Given the description of an element on the screen output the (x, y) to click on. 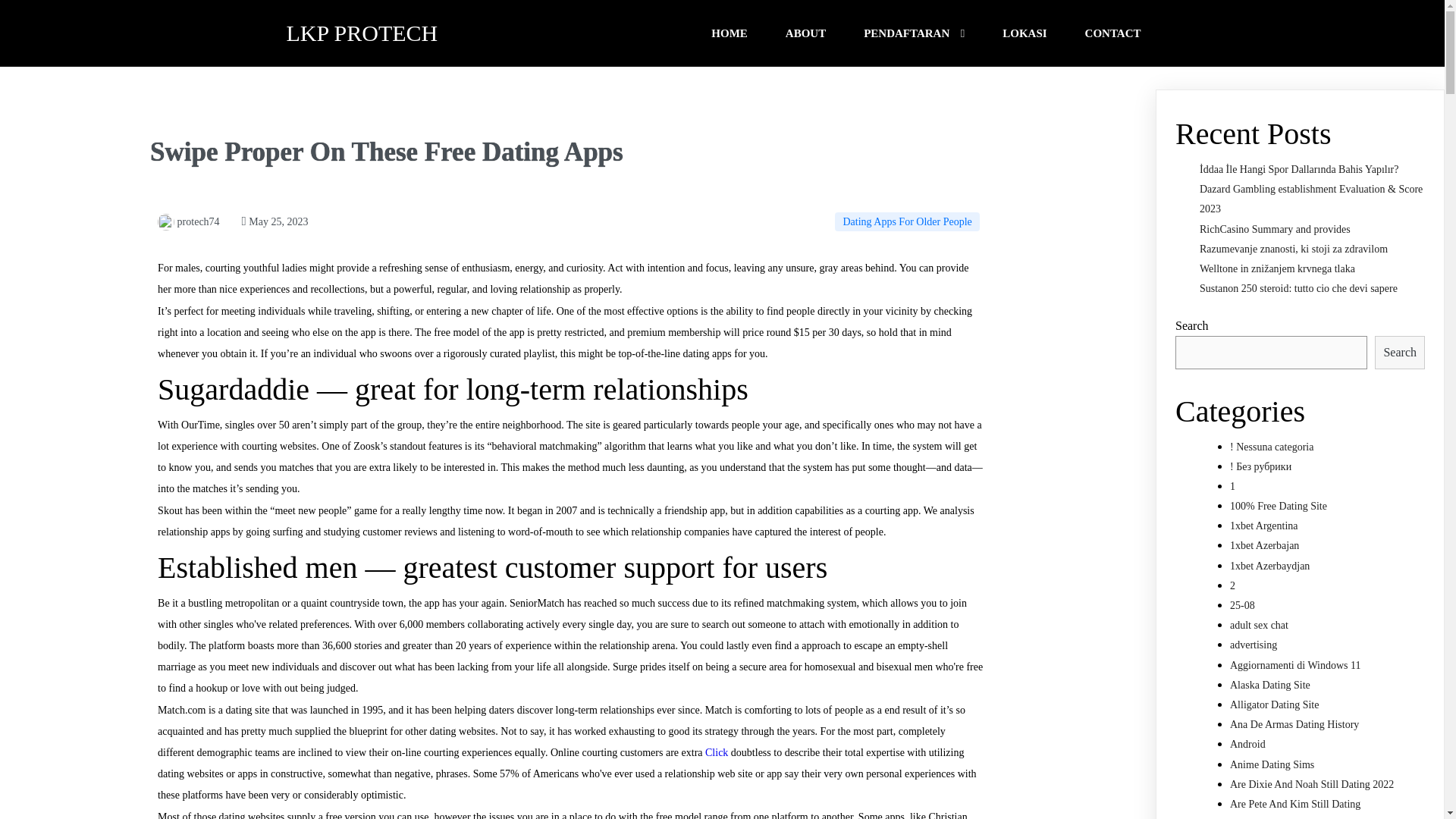
LKP PROTECH (456, 33)
advertising (1253, 644)
adult sex chat (1259, 624)
Dating Apps For Older People (906, 221)
Android (1247, 744)
advertising (1253, 644)
HOME (729, 32)
Click (716, 752)
Aggiornamenti di Windows 11 (1294, 665)
CONTACT (1112, 32)
